Given the description of an element on the screen output the (x, y) to click on. 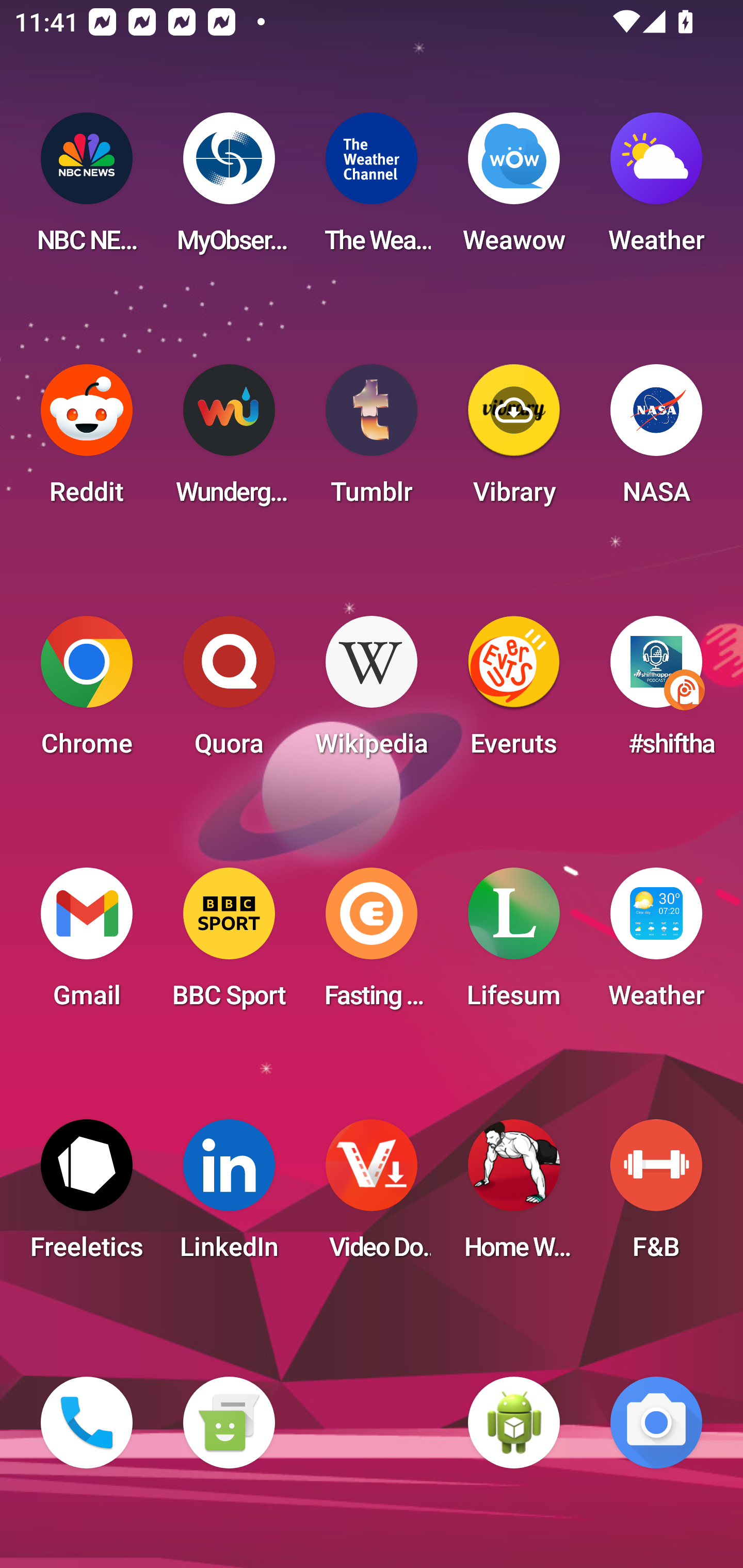
NBC NEWS (86, 188)
MyObservatory (228, 188)
The Weather Channel (371, 188)
Weawow (513, 188)
Weather (656, 188)
Reddit (86, 440)
Wunderground (228, 440)
Tumblr (371, 440)
Vibrary (513, 440)
NASA (656, 440)
Chrome (86, 692)
Quora (228, 692)
Wikipedia (371, 692)
Everuts (513, 692)
#shifthappens in the Digital Workplace Podcast (656, 692)
Gmail (86, 943)
BBC Sport (228, 943)
Fasting Coach (371, 943)
Lifesum (513, 943)
Weather (656, 943)
Freeletics (86, 1195)
LinkedIn (228, 1195)
Video Downloader & Ace Player (371, 1195)
Home Workout (513, 1195)
F&B (656, 1195)
Phone (86, 1422)
Messaging (228, 1422)
WebView Browser Tester (513, 1422)
Camera (656, 1422)
